Given the description of an element on the screen output the (x, y) to click on. 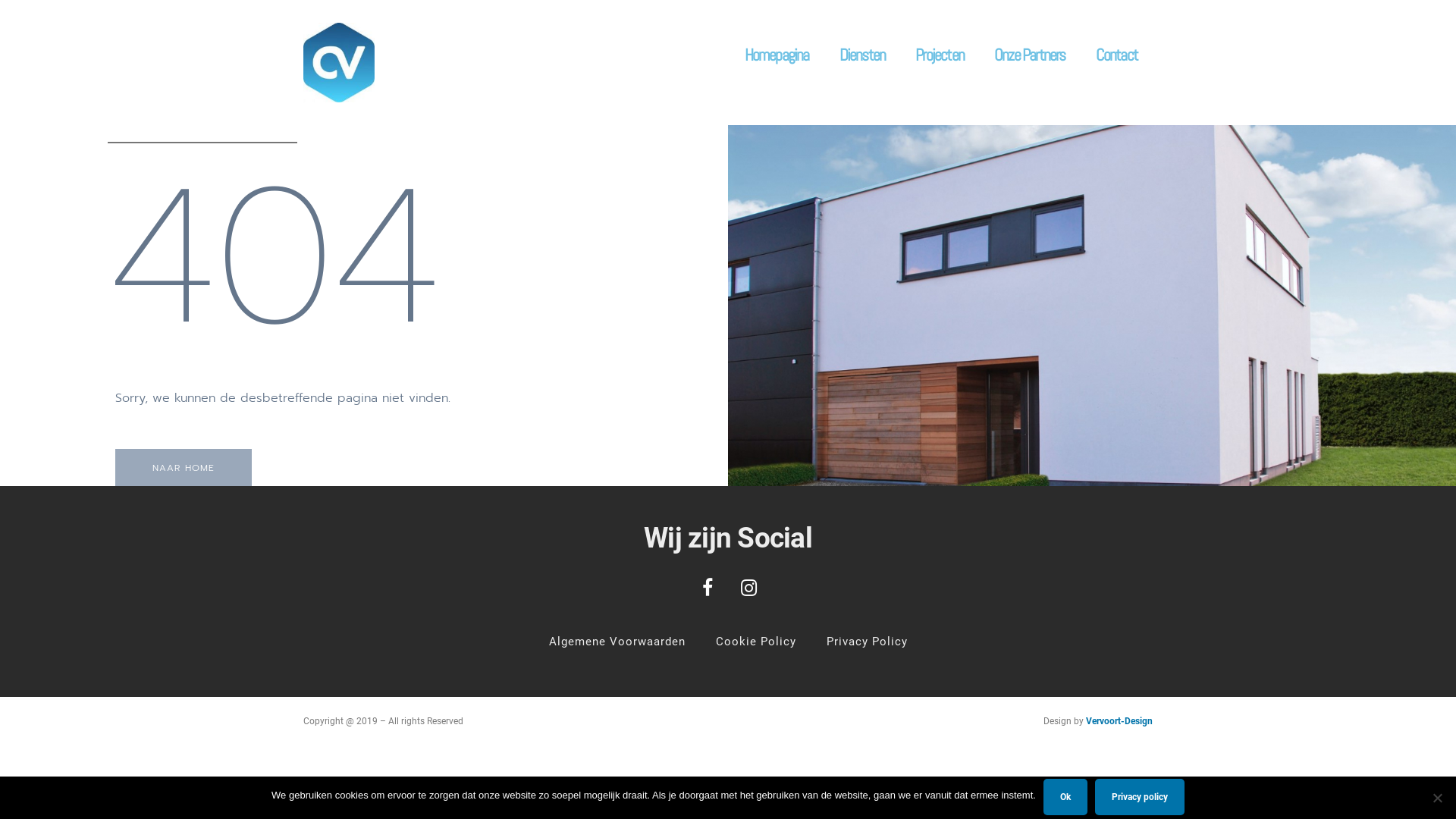
Onze Partners Element type: text (1029, 54)
Projecten Element type: text (939, 54)
Privacy Policy Element type: text (866, 641)
NAAR HOME Element type: text (183, 467)
Diensten Element type: text (862, 54)
Vervoort-Design Element type: text (1118, 720)
Algemene Voorwaarden Element type: text (616, 641)
Privacy policy Element type: text (1139, 796)
Homepagina Element type: text (776, 54)
Contact Element type: text (1116, 54)
Ok Element type: text (1065, 796)
Cookie Policy Element type: text (755, 641)
